Given the description of an element on the screen output the (x, y) to click on. 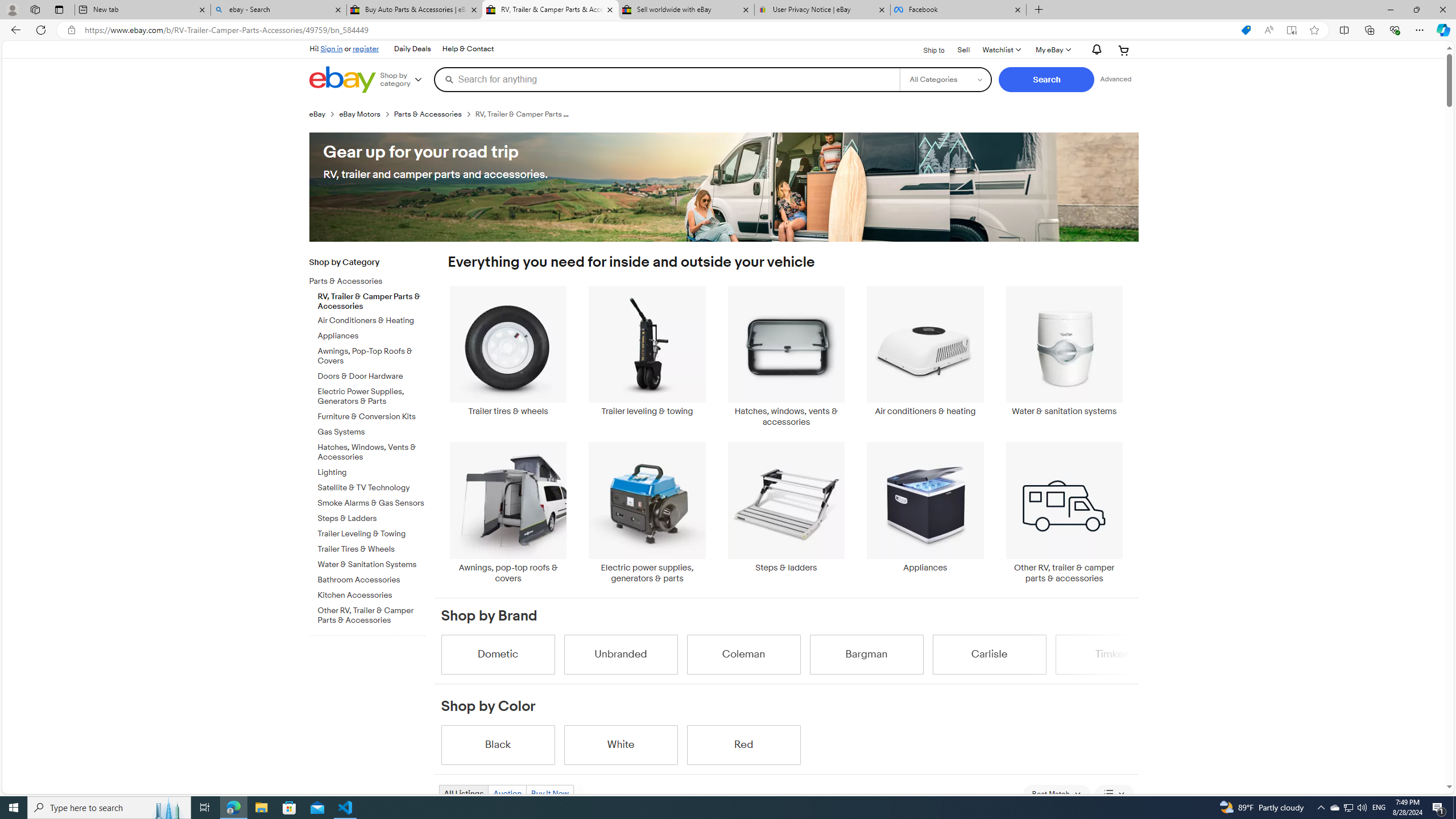
Auction (507, 792)
Water & Sanitation Systems (371, 564)
Kitchen Accessories (371, 595)
This site has coupons! Shopping in Microsoft Edge (1245, 29)
Red (742, 744)
Furniture & Conversion Kits (371, 414)
ebay - Search (277, 9)
Awnings, pop-top roofs & covers (508, 512)
Refresh (40, 29)
White (620, 744)
Trailer leveling & towing (646, 351)
Auction (506, 793)
Gas Systems (371, 432)
Bargman (866, 653)
Back (13, 29)
